Given the description of an element on the screen output the (x, y) to click on. 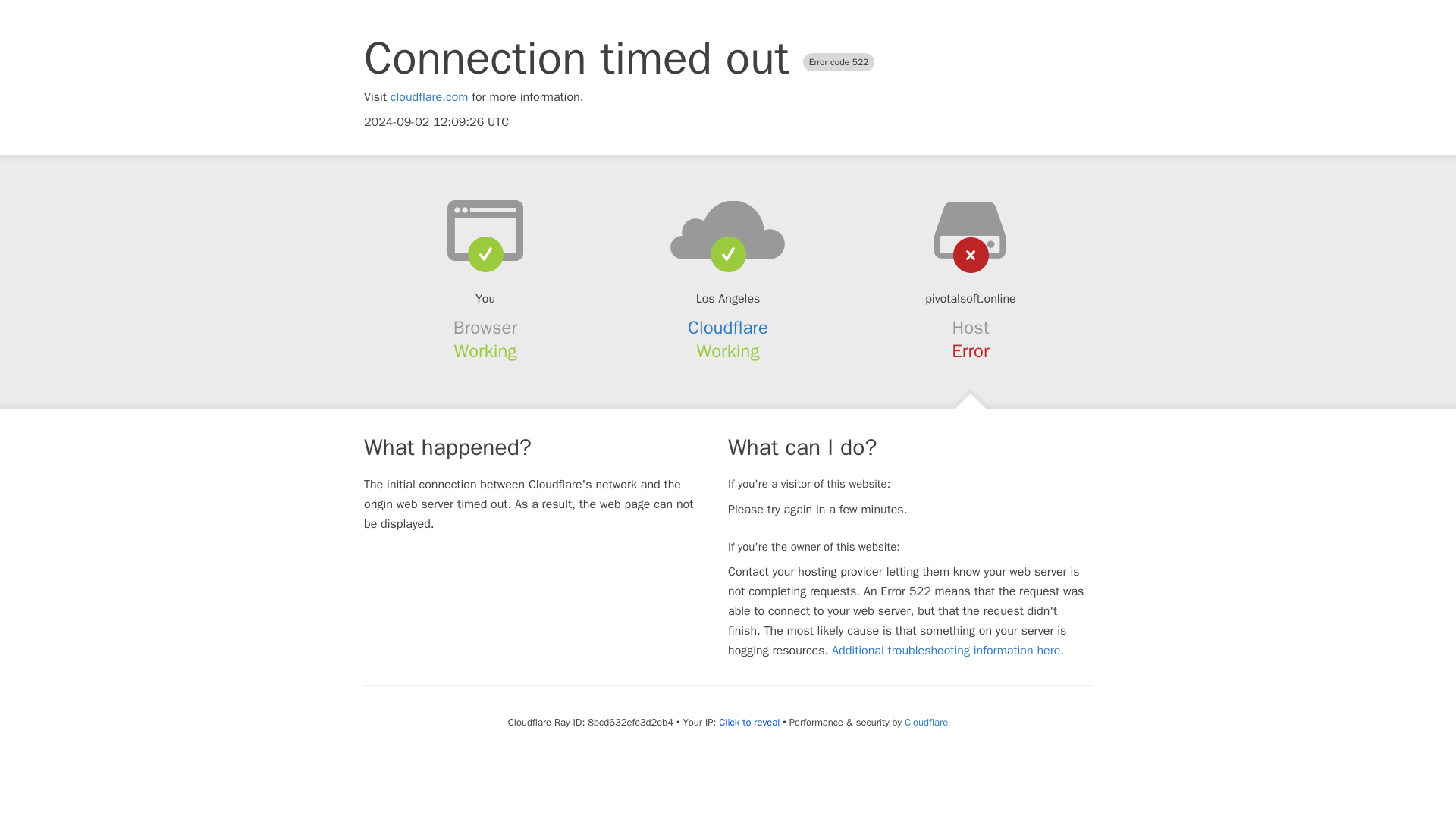
Cloudflare (925, 721)
cloudflare.com (429, 96)
Click to reveal (748, 722)
Cloudflare (727, 327)
Additional troubleshooting information here. (947, 650)
